Given the description of an element on the screen output the (x, y) to click on. 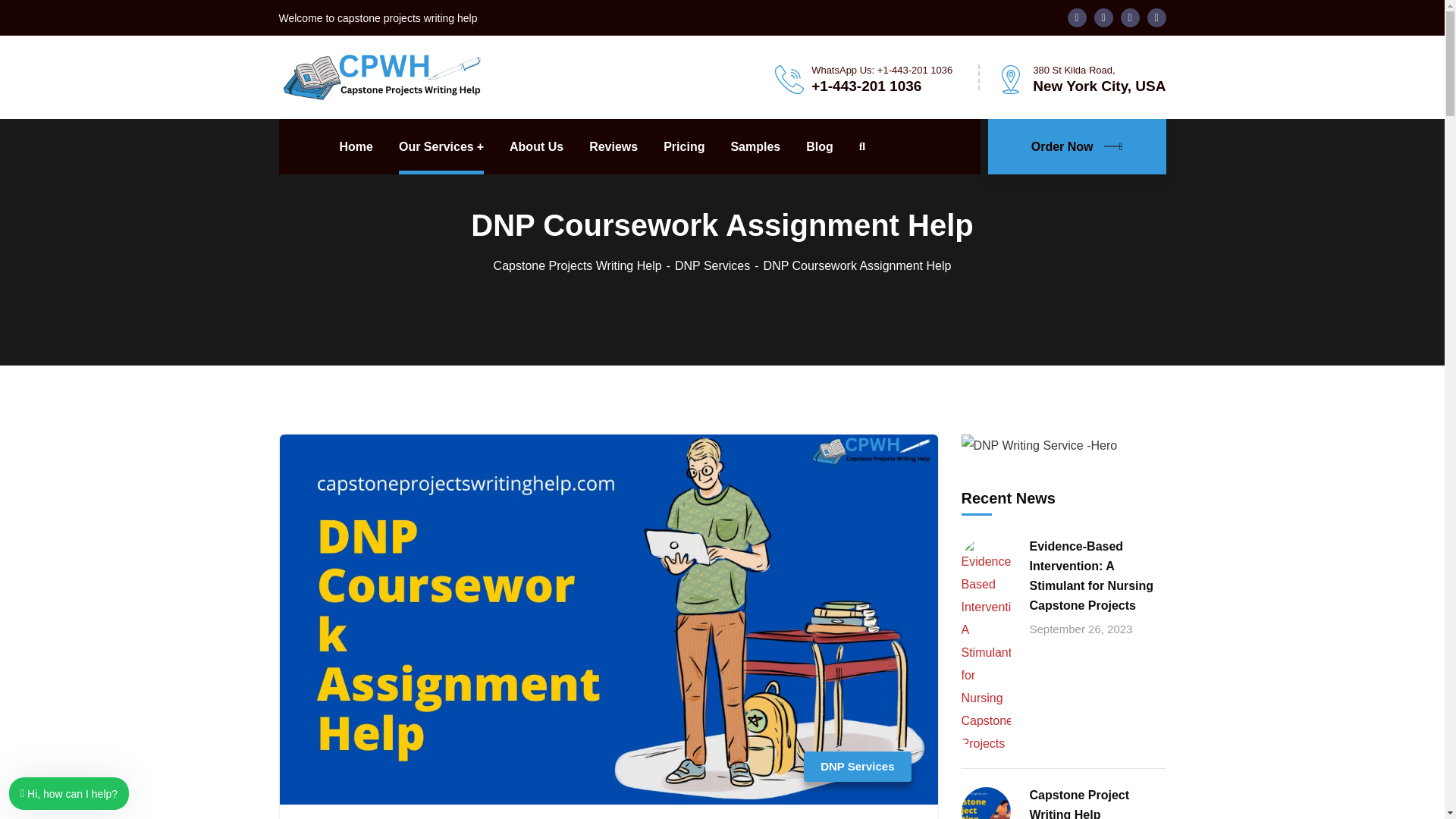
Samples (755, 146)
DNP Services (857, 766)
Capstone Projects Writing Help (584, 265)
Capstone Projects Writing Help (381, 75)
About Us (536, 146)
Our Services (440, 146)
DNP Services (718, 265)
Order Now (1077, 146)
